Given the description of an element on the screen output the (x, y) to click on. 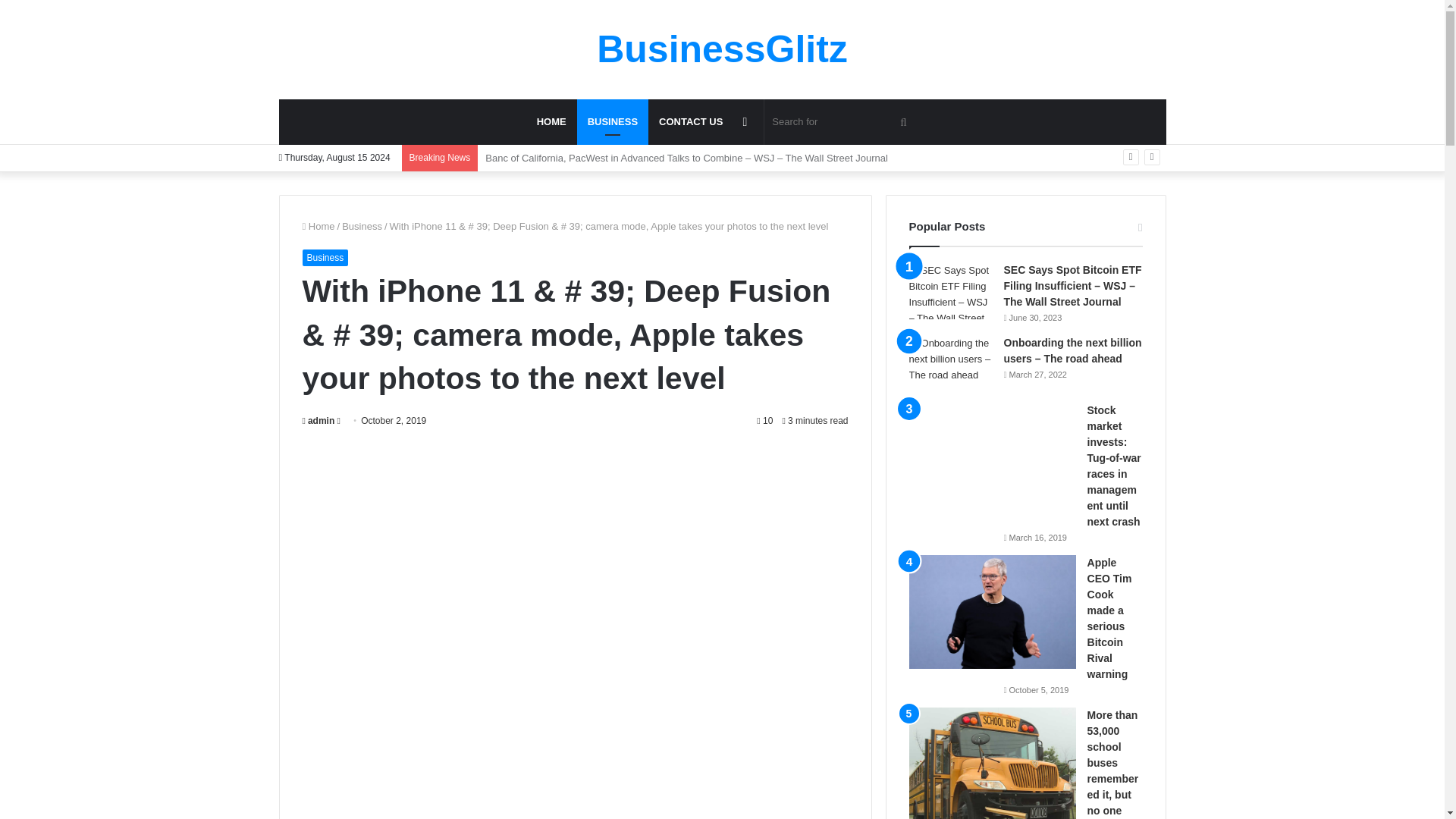
BusinessGlitz (721, 48)
BUSINESS (611, 121)
HOME (550, 121)
BusinessGlitz (721, 48)
admin (317, 420)
admin (317, 420)
Business (361, 225)
Search for (841, 121)
CONTACT US (690, 121)
Business (611, 121)
